Given the description of an element on the screen output the (x, y) to click on. 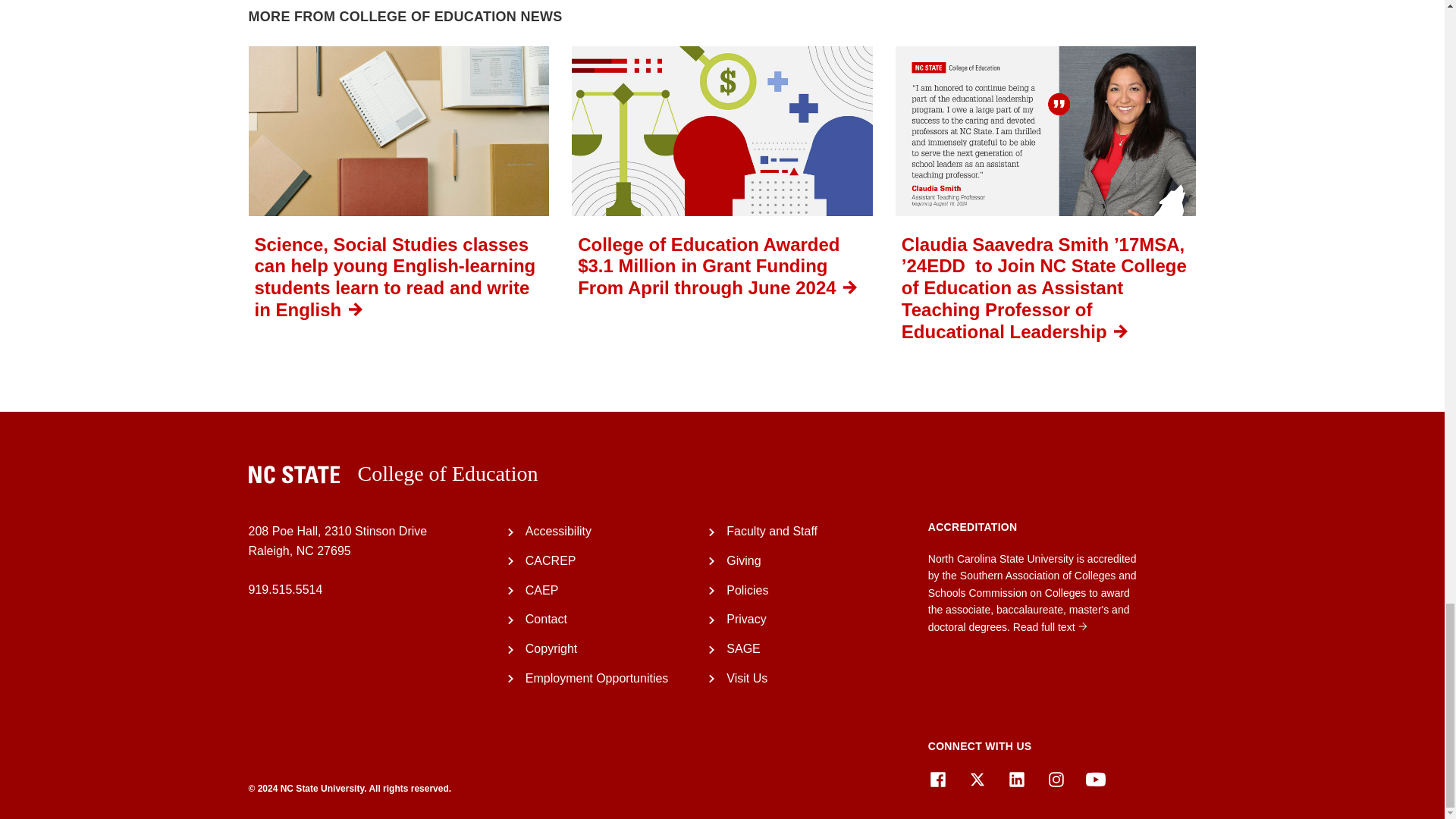
X (977, 779)
Facebook (937, 779)
LinkedIn (1016, 779)
YouTube (1095, 779)
Instagram (1055, 779)
